Given the description of an element on the screen output the (x, y) to click on. 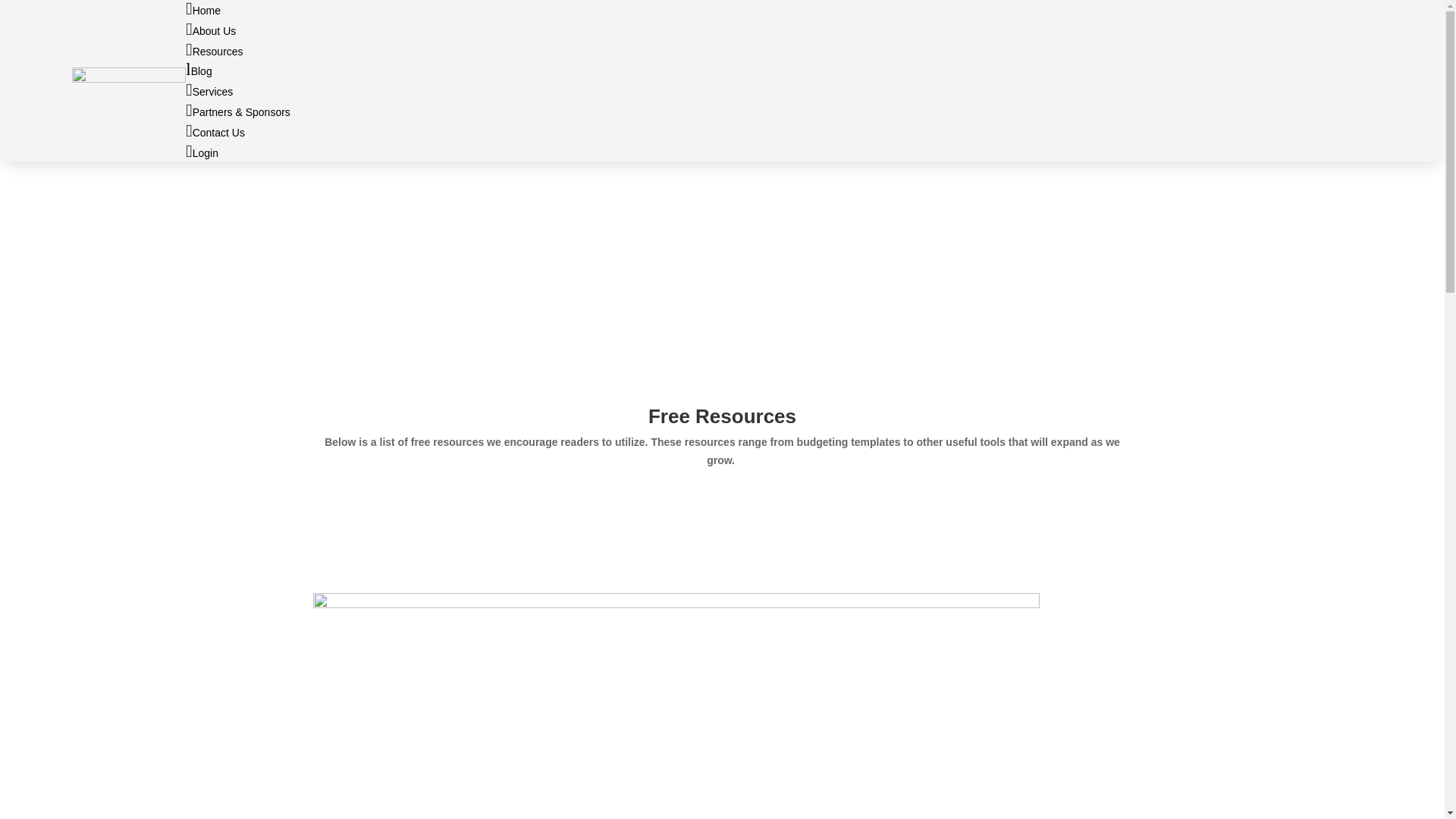
lBlog (779, 70)
